Given the description of an element on the screen output the (x, y) to click on. 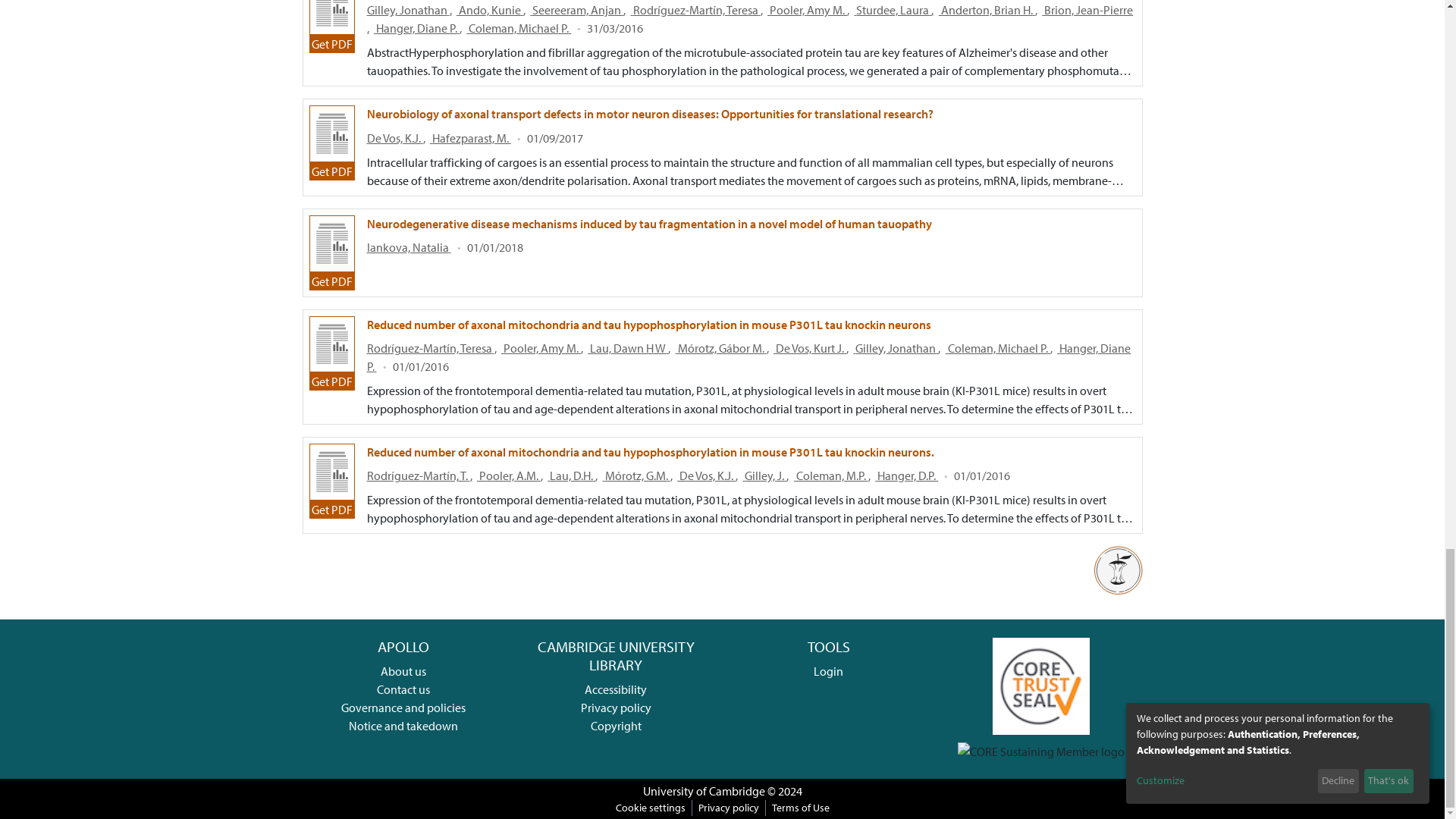
Apollo CTS full application (1040, 684)
